Given the description of an element on the screen output the (x, y) to click on. 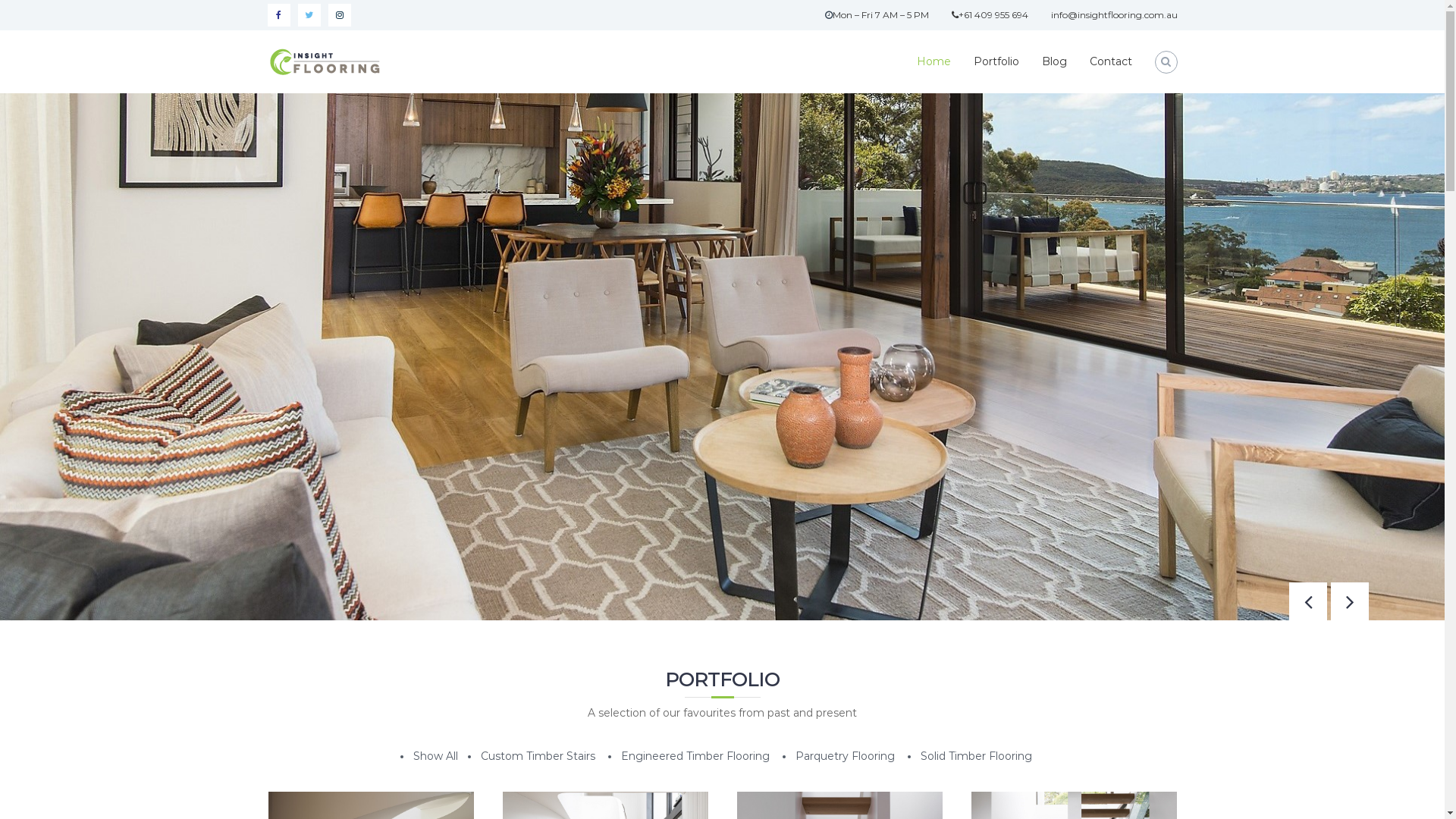
Parquetry Flooring Element type: text (845, 755)
Insight Flooring Element type: text (311, 56)
+61 409 955 694 Element type: text (988, 14)
Facebook Element type: text (277, 14)
Show All Element type: text (435, 755)
Contact Element type: text (1109, 61)
Instagram Element type: text (338, 14)
info@insightflooring.com.au Element type: text (1114, 14)
Home Element type: text (933, 61)
Portfolio Element type: text (996, 61)
Custom Timber Stairs Element type: text (536, 755)
Solid Timber Flooring Element type: text (975, 755)
Engineered Timber Flooring Element type: text (695, 755)
Blog Element type: text (1053, 61)
Twitter Element type: text (308, 14)
